Given the description of an element on the screen output the (x, y) to click on. 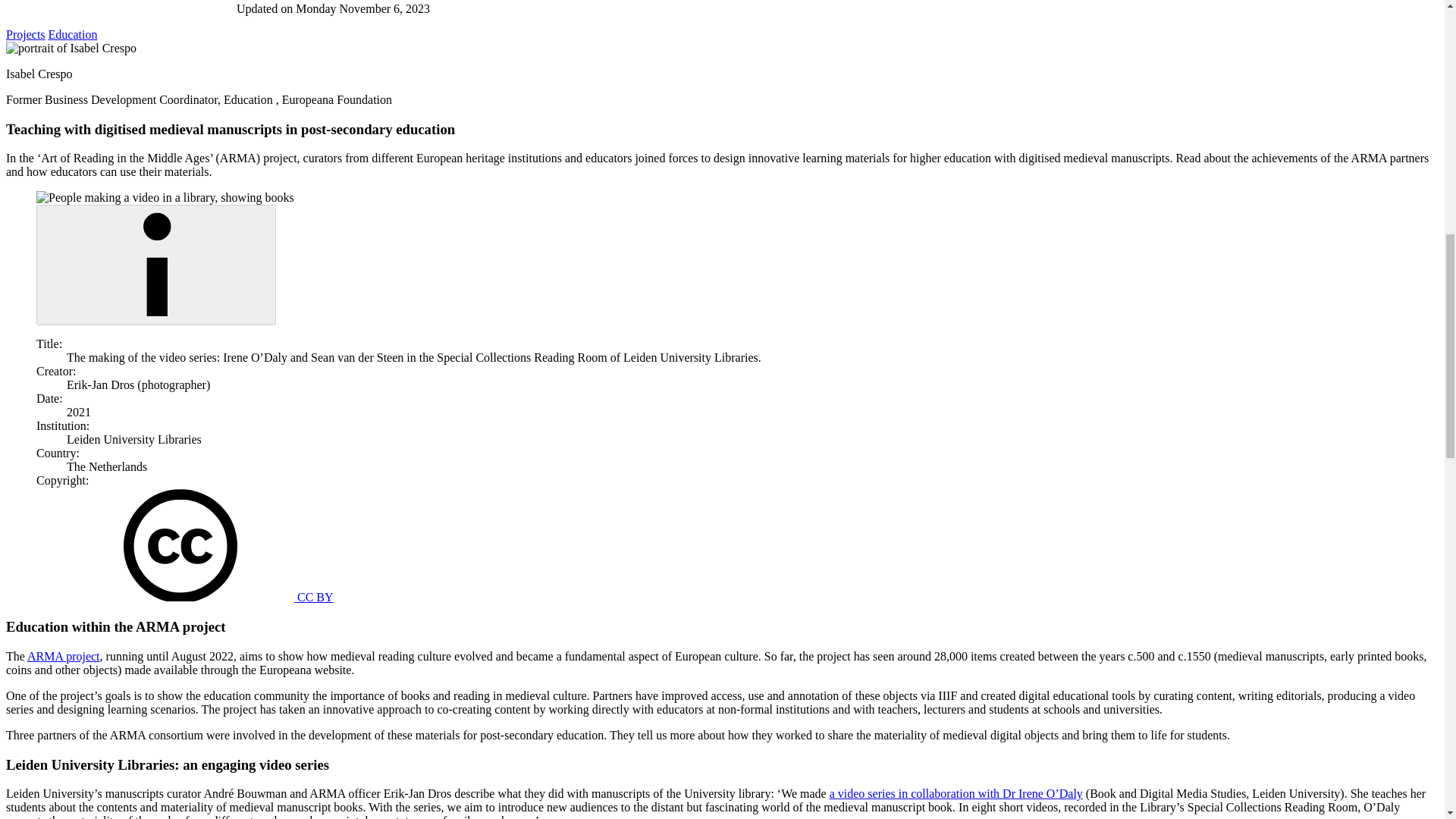
ARMA project (63, 656)
Projects (25, 33)
Creative Commons CC BY (199, 596)
Education (72, 33)
Creative Commons (180, 544)
